Given the description of an element on the screen output the (x, y) to click on. 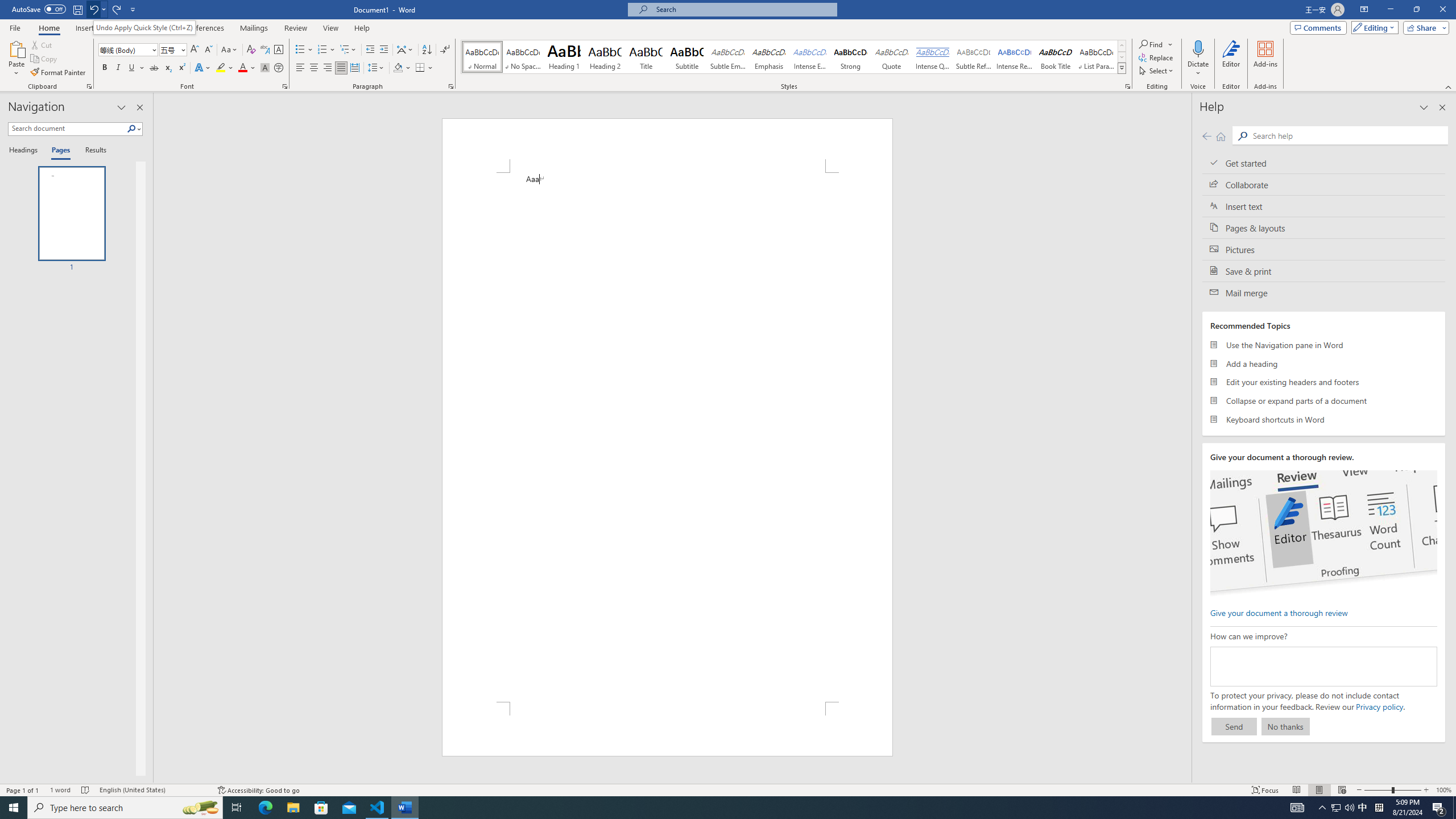
Send (1233, 726)
Heading 1 (564, 56)
Strikethrough (154, 67)
Text Effects and Typography (202, 67)
Microsoft search (742, 9)
Line and Paragraph Spacing (376, 67)
Distributed (354, 67)
Font... (285, 85)
